Given the description of an element on the screen output the (x, y) to click on. 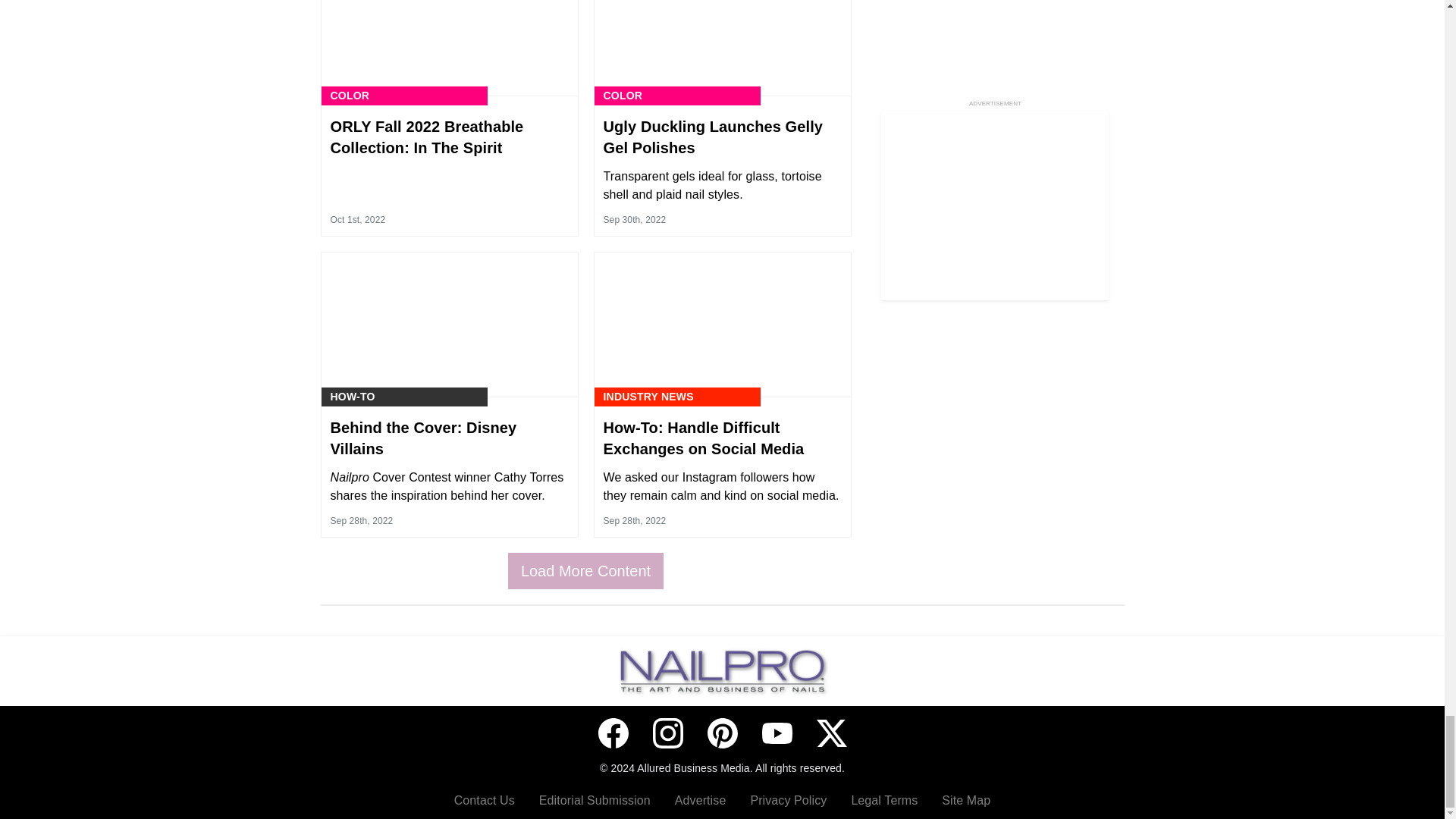
YouTube icon (776, 733)
Instagram icon (667, 733)
Pinterest icon (721, 733)
Facebook icon (611, 733)
